Given the description of an element on the screen output the (x, y) to click on. 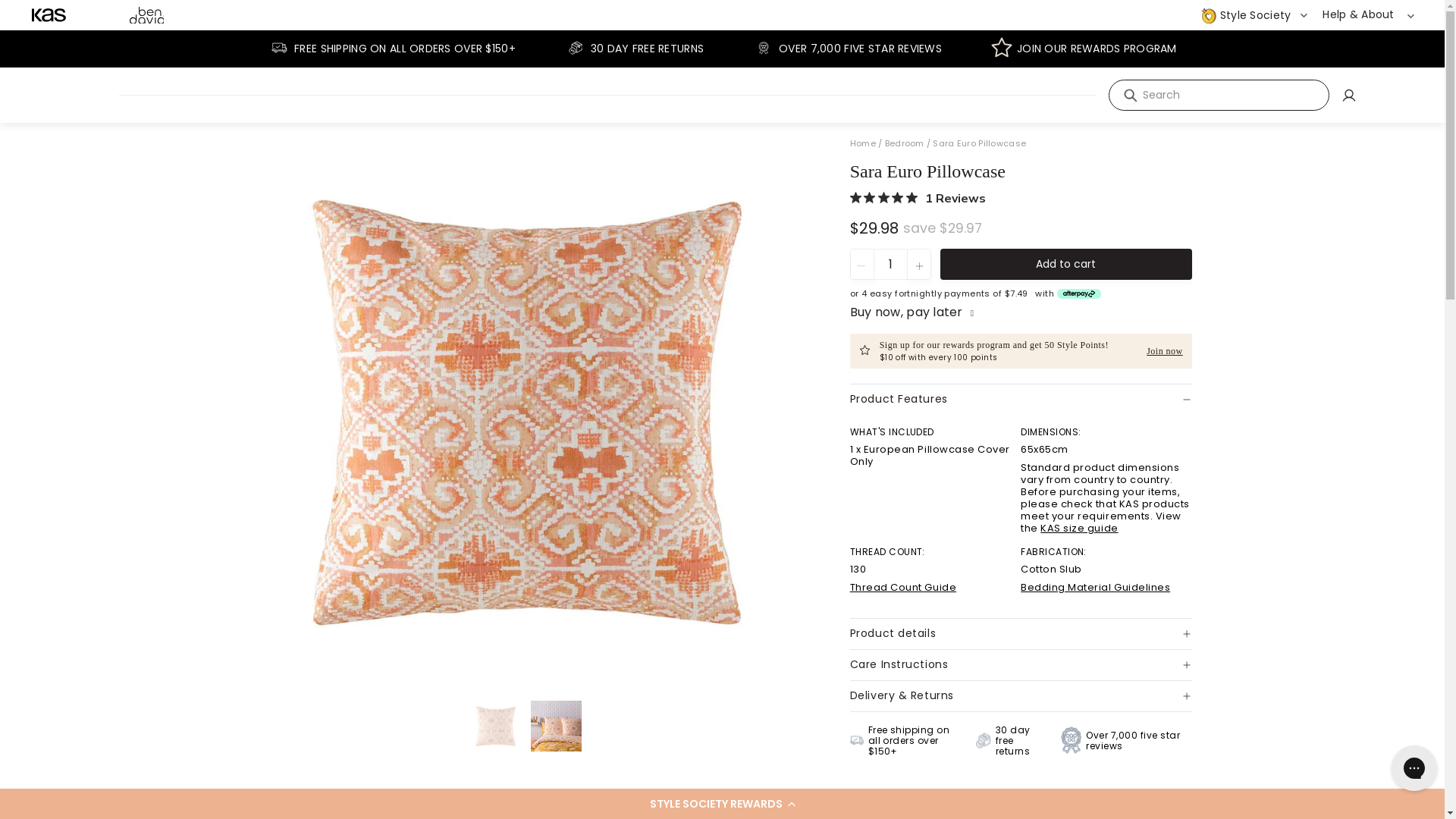
Add to cart Element type: text (1066, 263)
30 day free returns Element type: text (1011, 740)
KAS size guide Element type: text (1078, 527)
OVER 7,000 FIVE STAR REVIEWS Element type: text (847, 48)
Home Element type: text (864, 143)
Join now Element type: text (1161, 350)
30 DAY FREE RETURNS Element type: text (633, 48)
FREE SHIPPING ON ALL ORDERS OVER $150+ Element type: text (391, 48)
JOIN OUR REWARDS PROGRAM Element type: text (1083, 48)
Over 7,000 five star reviews Element type: text (1126, 740)
Help & About Element type: text (1368, 14)
Bedroom Element type: text (904, 143)
Style Society Element type: text (1254, 15)
Thread Count Guide Element type: text (903, 587)
Home Element type: hover (48, 15)
Ben David Element type: hover (146, 15)
Gorgias live chat messenger Element type: hover (1413, 768)
Free shipping on all orders over $150+ Element type: text (906, 740)
Bedding Material Guidelines Element type: text (1095, 587)
